Given the description of an element on the screen output the (x, y) to click on. 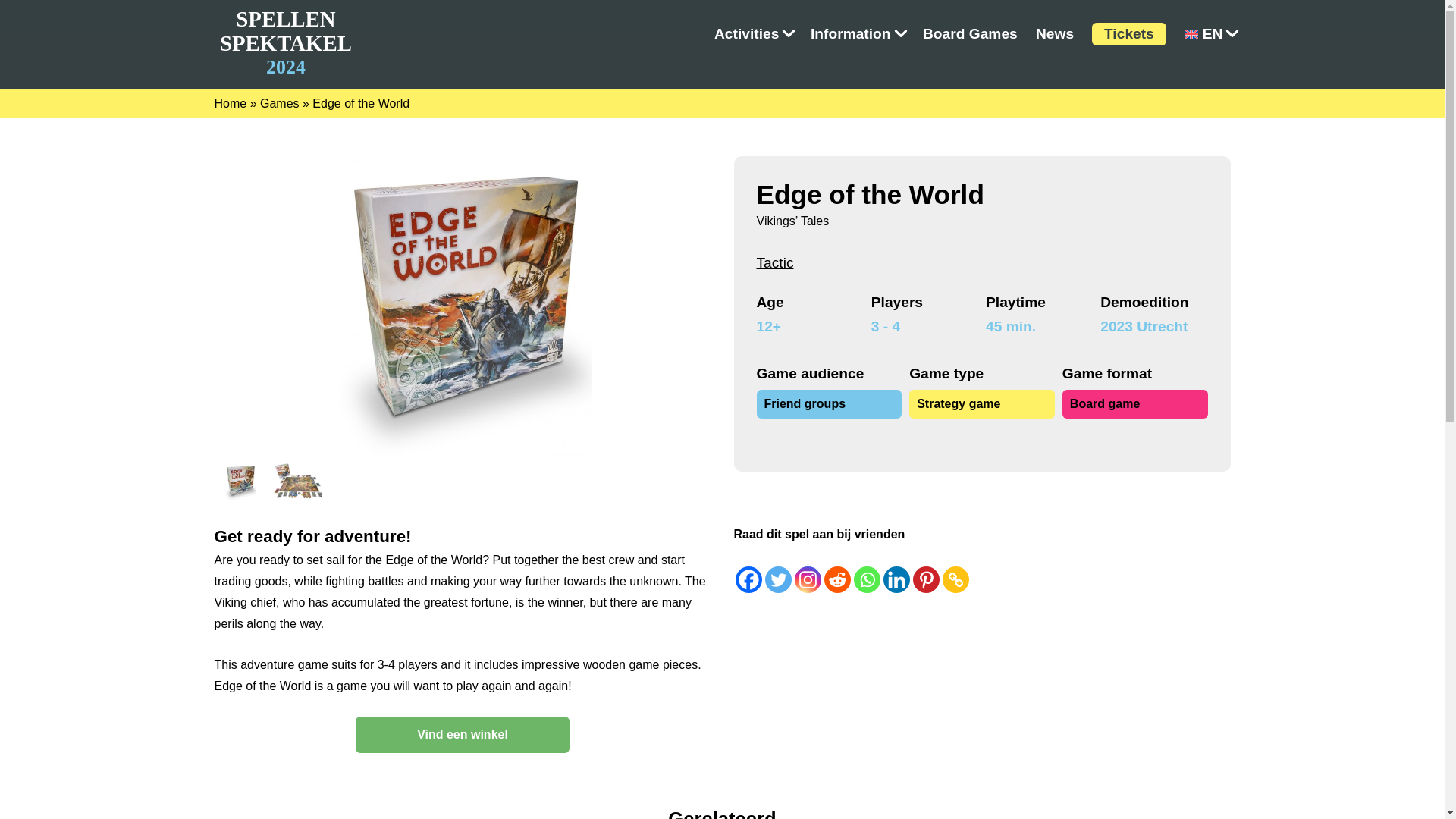
Copy Link (285, 43)
Pinterest (955, 579)
News (925, 579)
Twitter (1054, 33)
Activities (777, 579)
Reddit (746, 33)
Friend groups (837, 579)
Home (829, 403)
Information (230, 103)
Instagram (850, 33)
EN (807, 579)
Board game (1204, 33)
Tactic (1135, 403)
Facebook (775, 262)
